Given the description of an element on the screen output the (x, y) to click on. 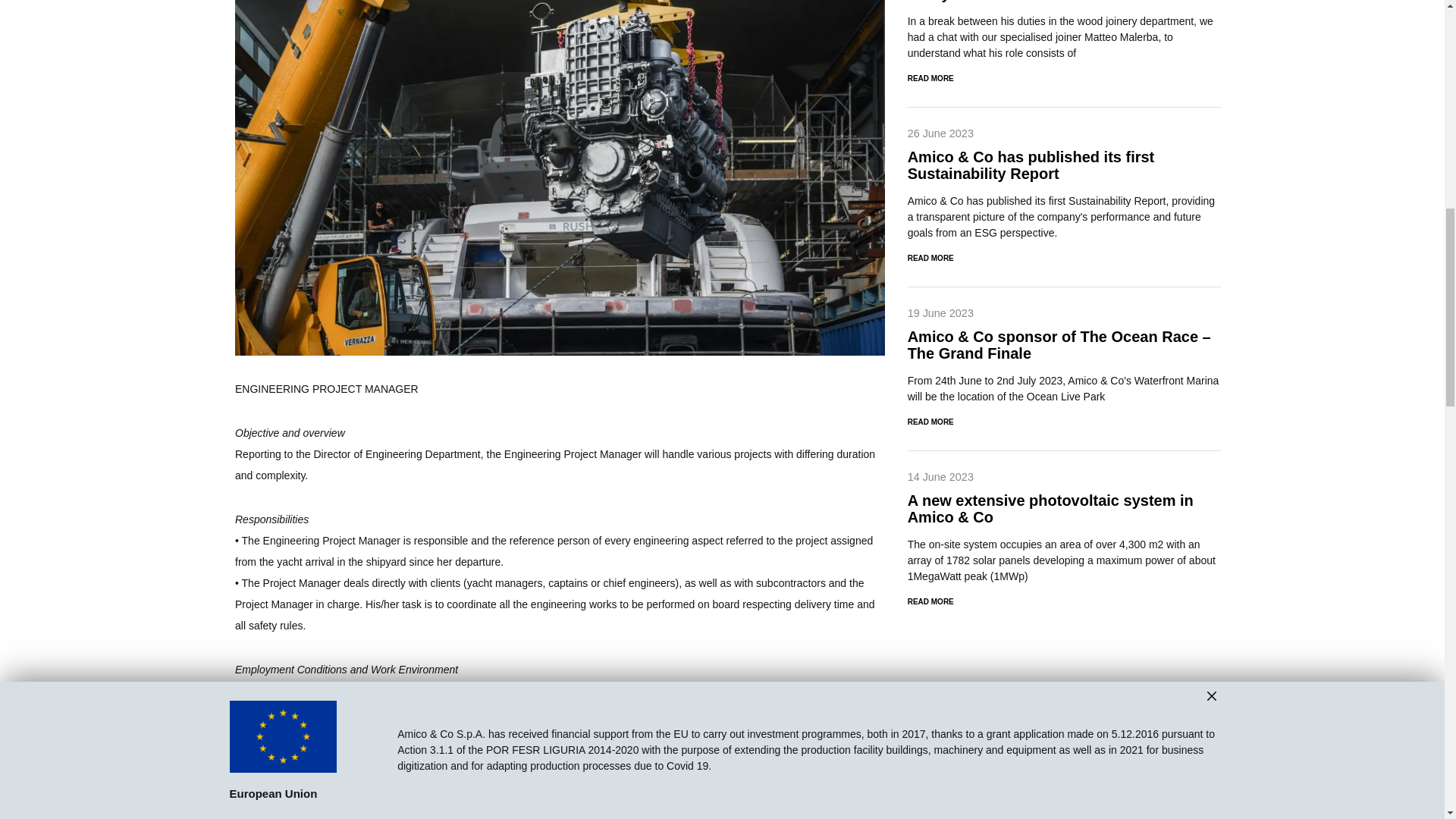
READ MORE (1064, 415)
READ MORE (1064, 72)
READ MORE (1064, 251)
READ MORE (1064, 595)
